Given the description of an element on the screen output the (x, y) to click on. 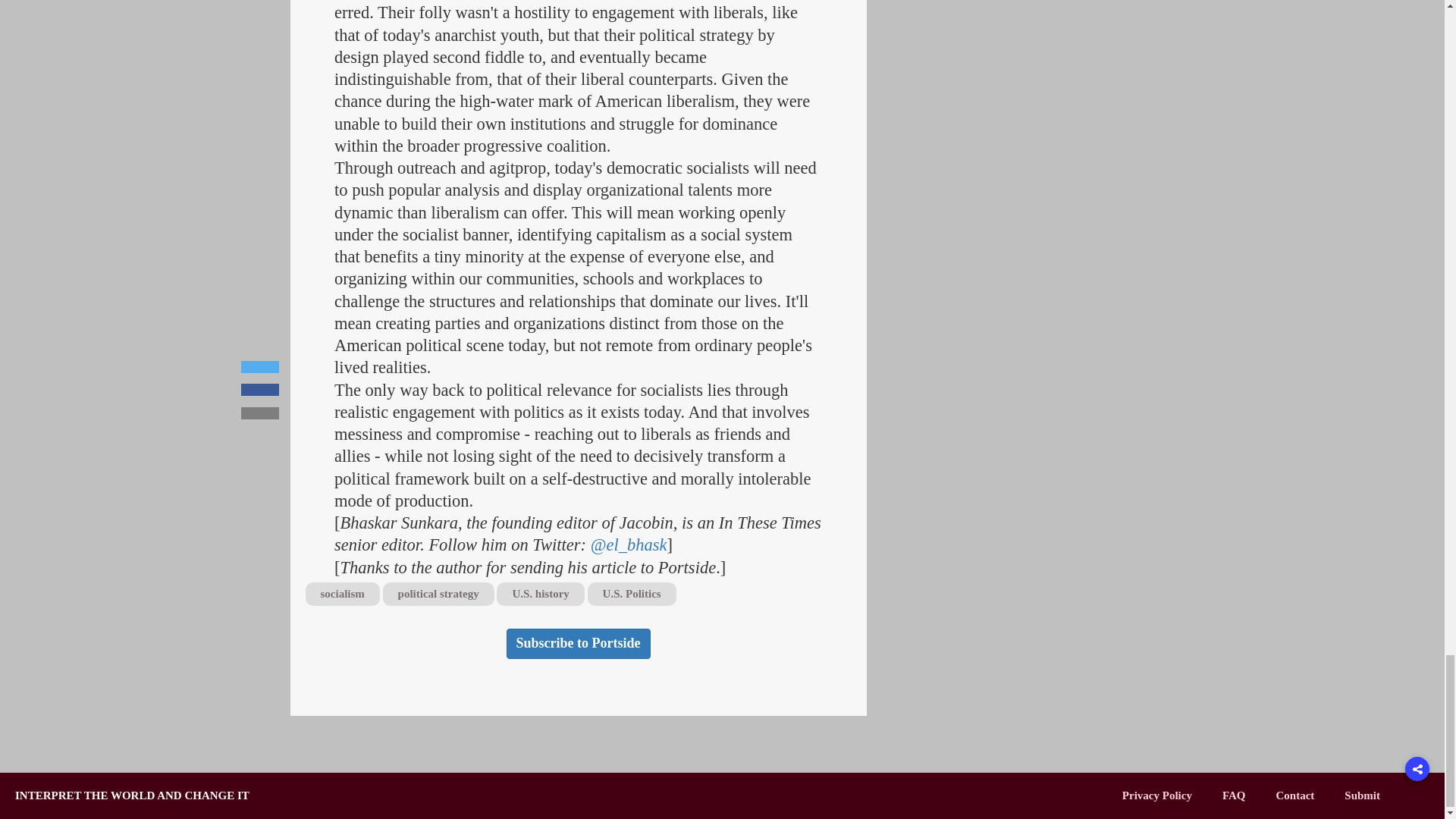
political strategy (438, 594)
Submit an article to Portside (1361, 795)
Frequently Asked Questions (1234, 795)
socialism (341, 594)
U.S. history (539, 594)
Subscribe to Portside (578, 643)
U.S. Politics (632, 594)
